Given the description of an element on the screen output the (x, y) to click on. 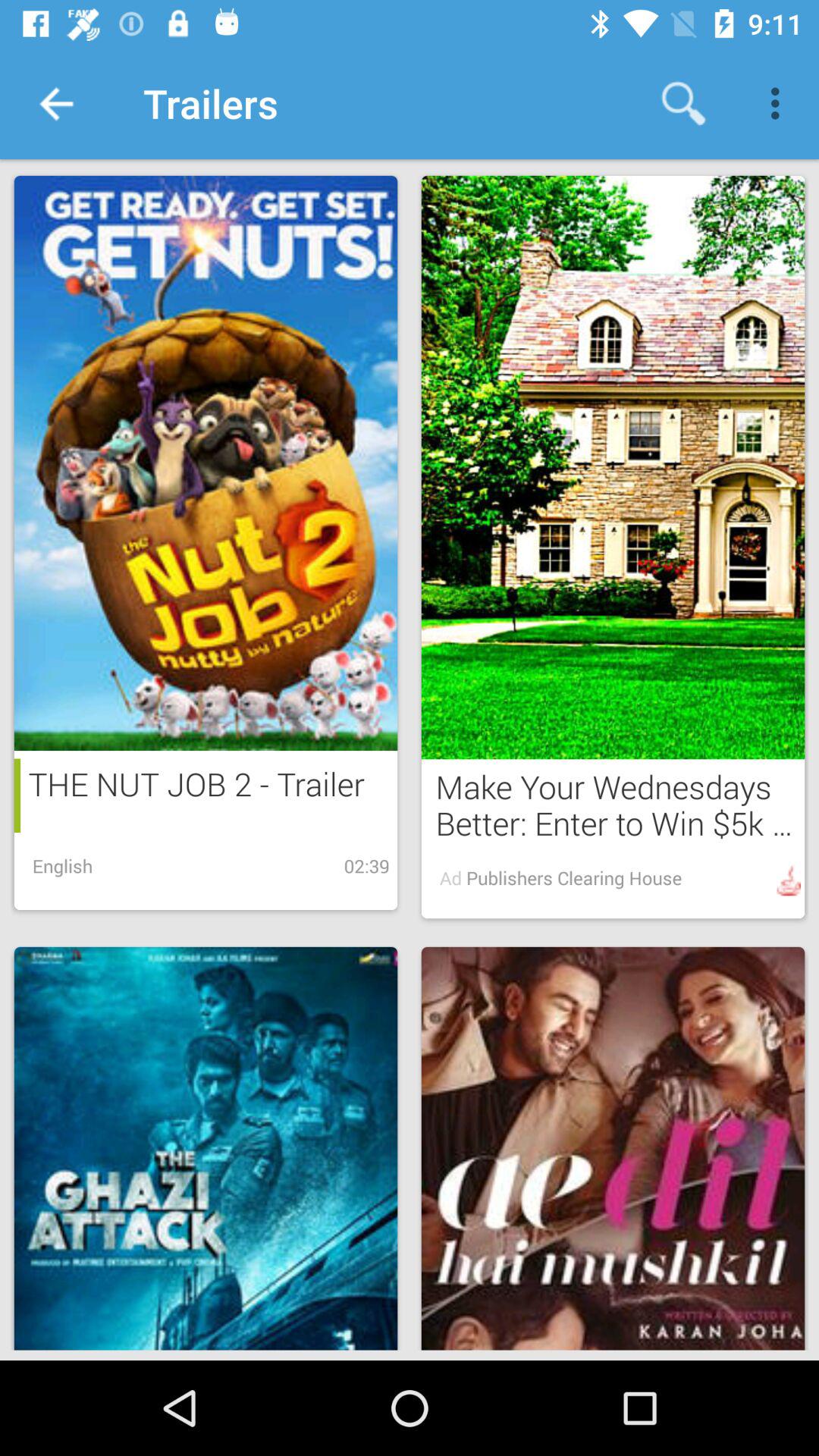
click on the first right image (612, 467)
click on the image beside ad publishers clearing house (788, 880)
